Given the description of an element on the screen output the (x, y) to click on. 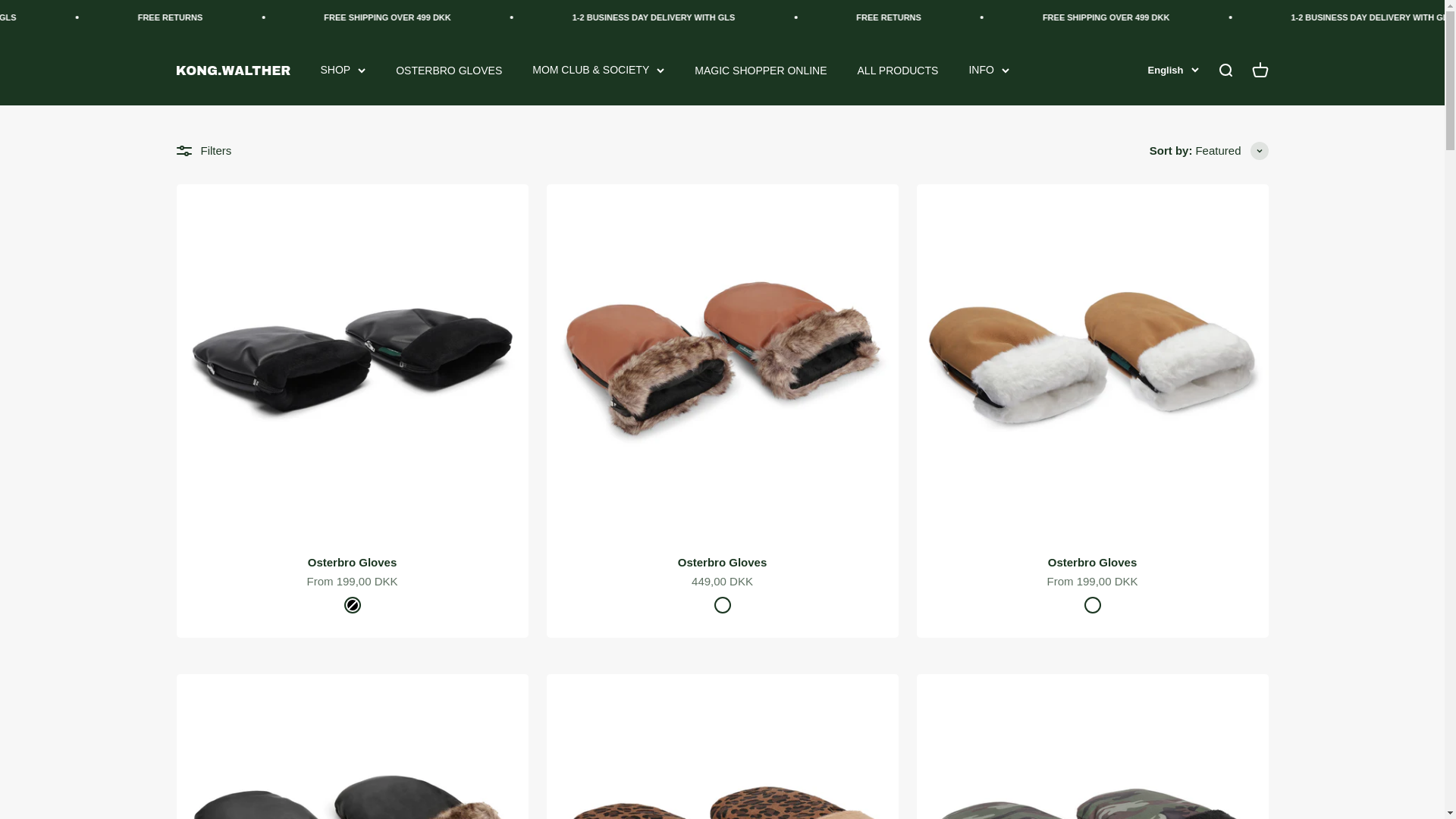
MAGIC SHOPPER ONLINE (760, 70)
OSTERBRO GLOVES (449, 70)
English (1173, 69)
ALL PRODUCTS (898, 70)
KONGWALTHER (232, 70)
